Given the description of an element on the screen output the (x, y) to click on. 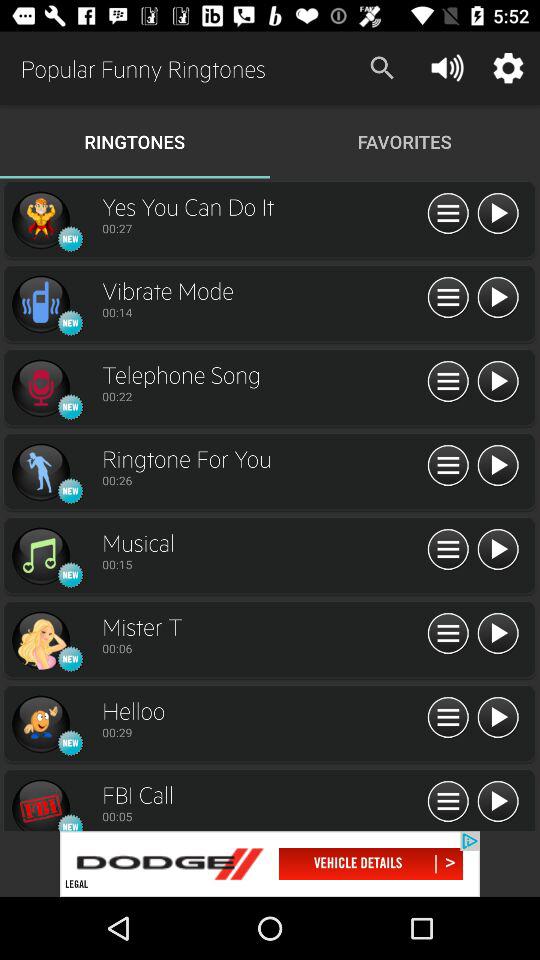
play ringtone (497, 801)
